Given the description of an element on the screen output the (x, y) to click on. 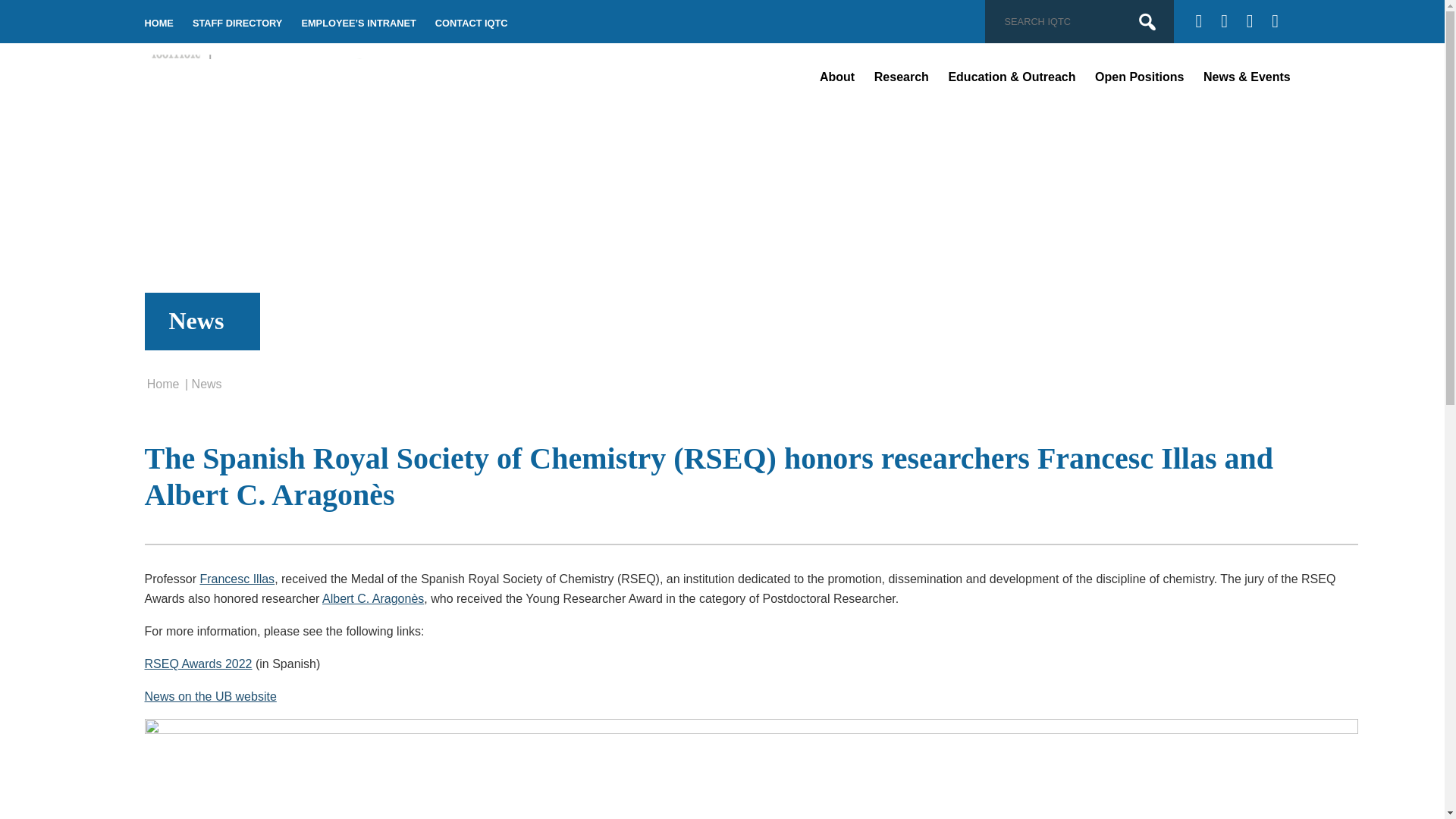
CONTACT IQTC (471, 22)
About (836, 77)
HOME (158, 22)
STAFF DIRECTORY (237, 22)
Submit (1146, 21)
Search for: (1068, 20)
